Given the description of an element on the screen output the (x, y) to click on. 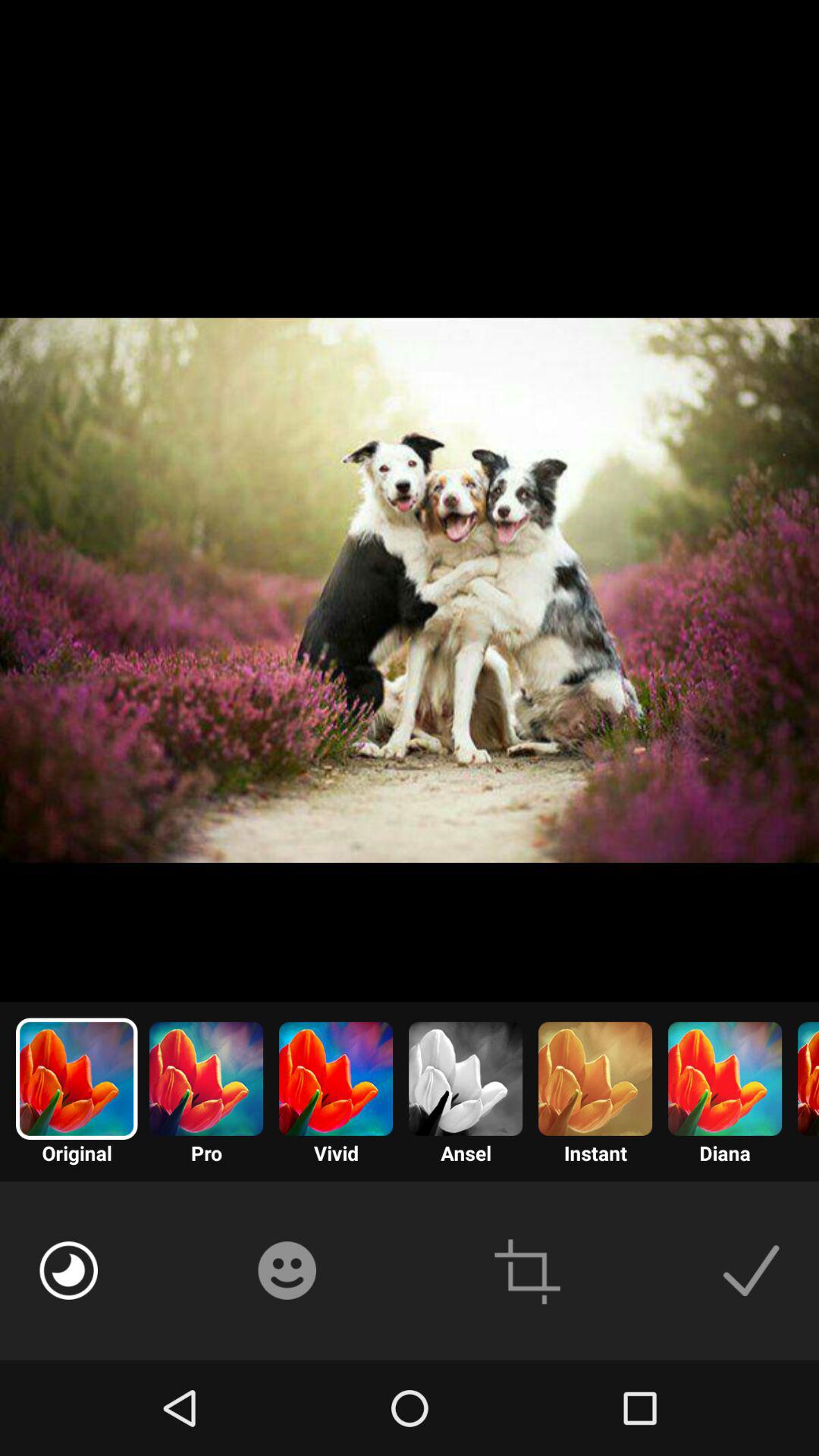
add emoticon (287, 1270)
